Given the description of an element on the screen output the (x, y) to click on. 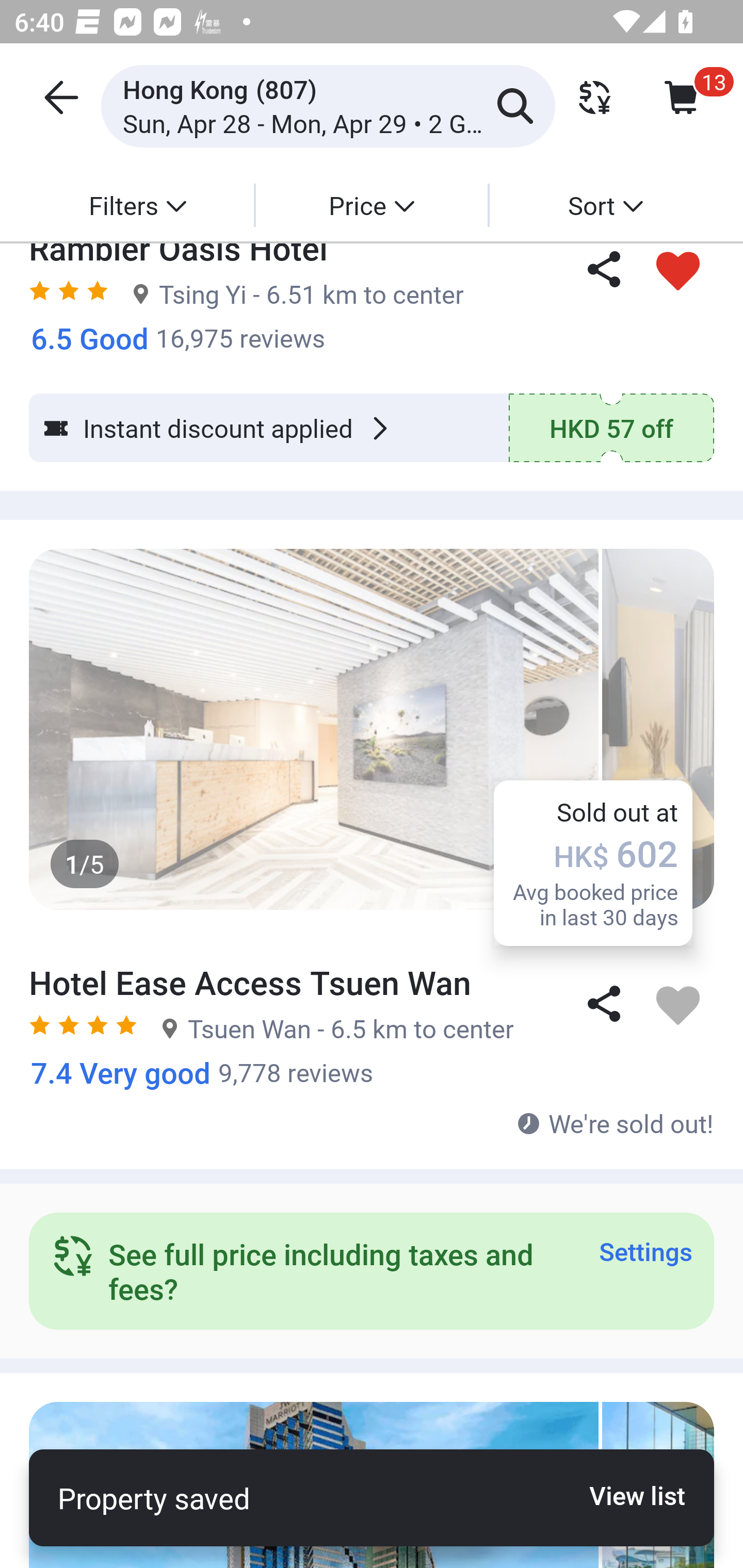
Filters (137, 205)
Price (371, 205)
Sort (605, 205)
Instant discount applied HKD 57 off (371, 427)
1/5 (371, 728)
Settings (645, 1251)
View list (626, 1494)
